Given the description of an element on the screen output the (x, y) to click on. 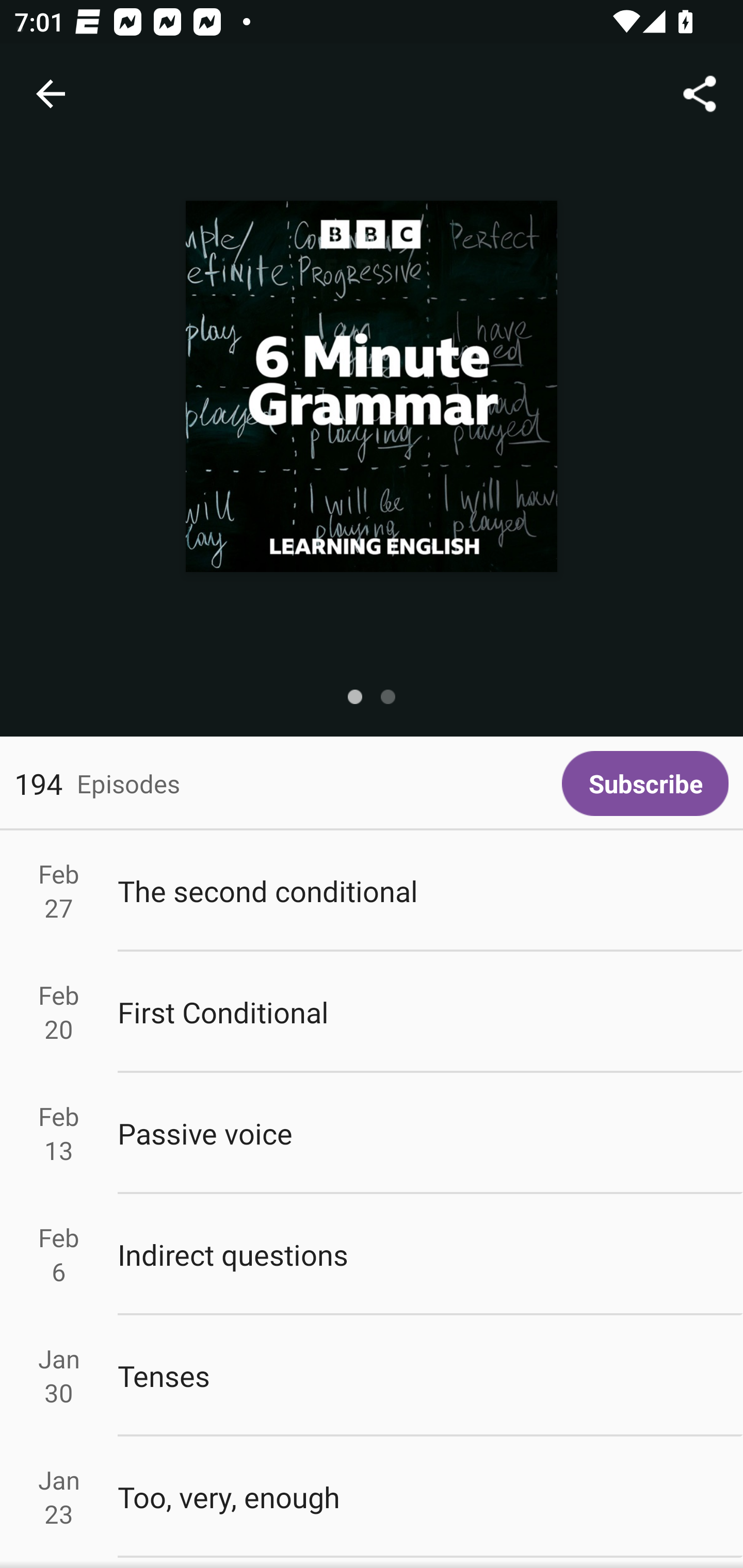
Navigate up (50, 93)
Share... (699, 93)
Subscribe (644, 783)
Feb 27 The second conditional (371, 891)
Feb 20 First Conditional (371, 1011)
Feb 13 Passive voice (371, 1133)
Feb 6 Indirect questions (371, 1254)
Jan 30 Tenses (371, 1375)
Jan 23 Too, very, enough (371, 1496)
